Given the description of an element on the screen output the (x, y) to click on. 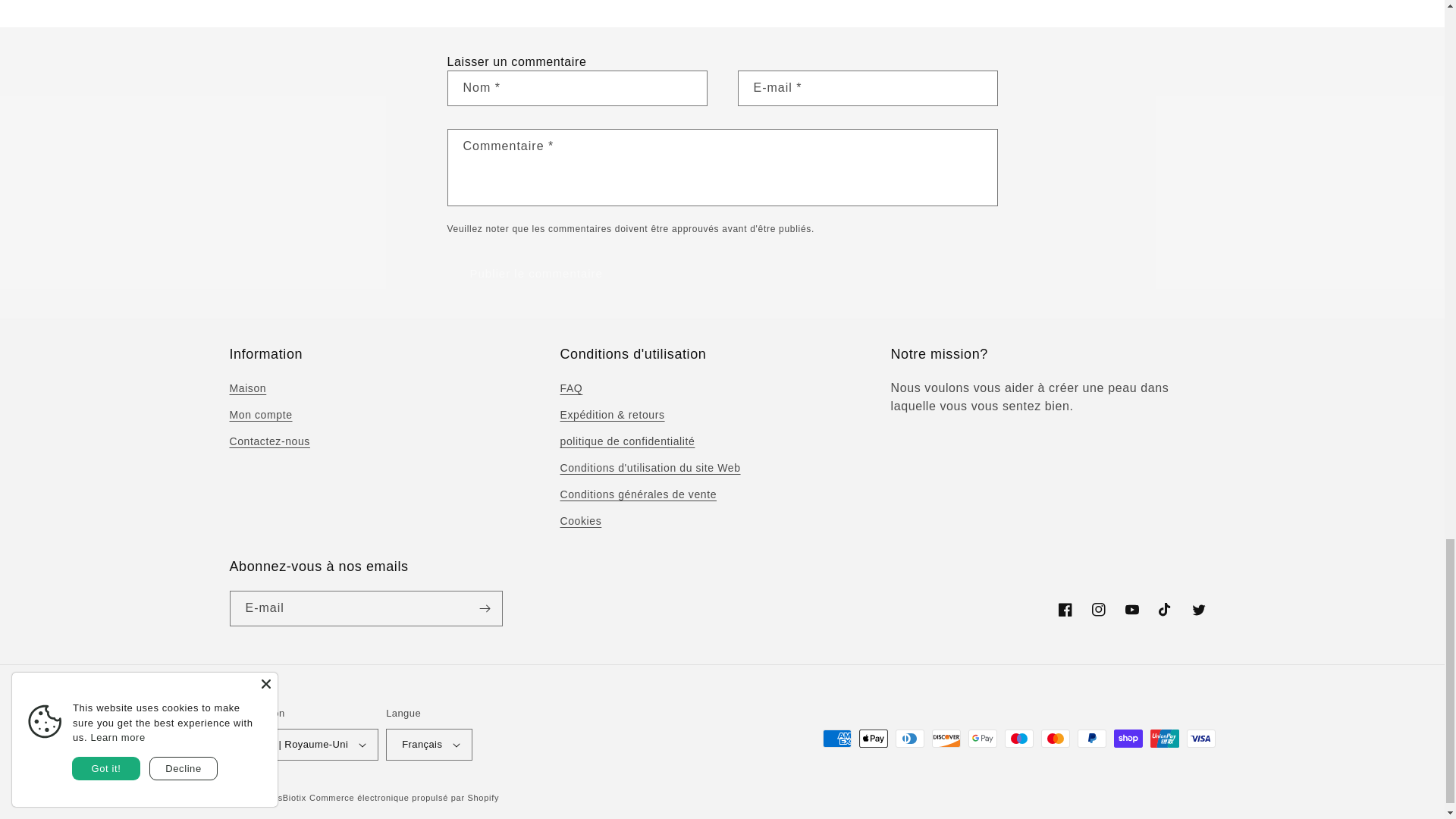
Publier le commentaire (536, 273)
